Given the description of an element on the screen output the (x, y) to click on. 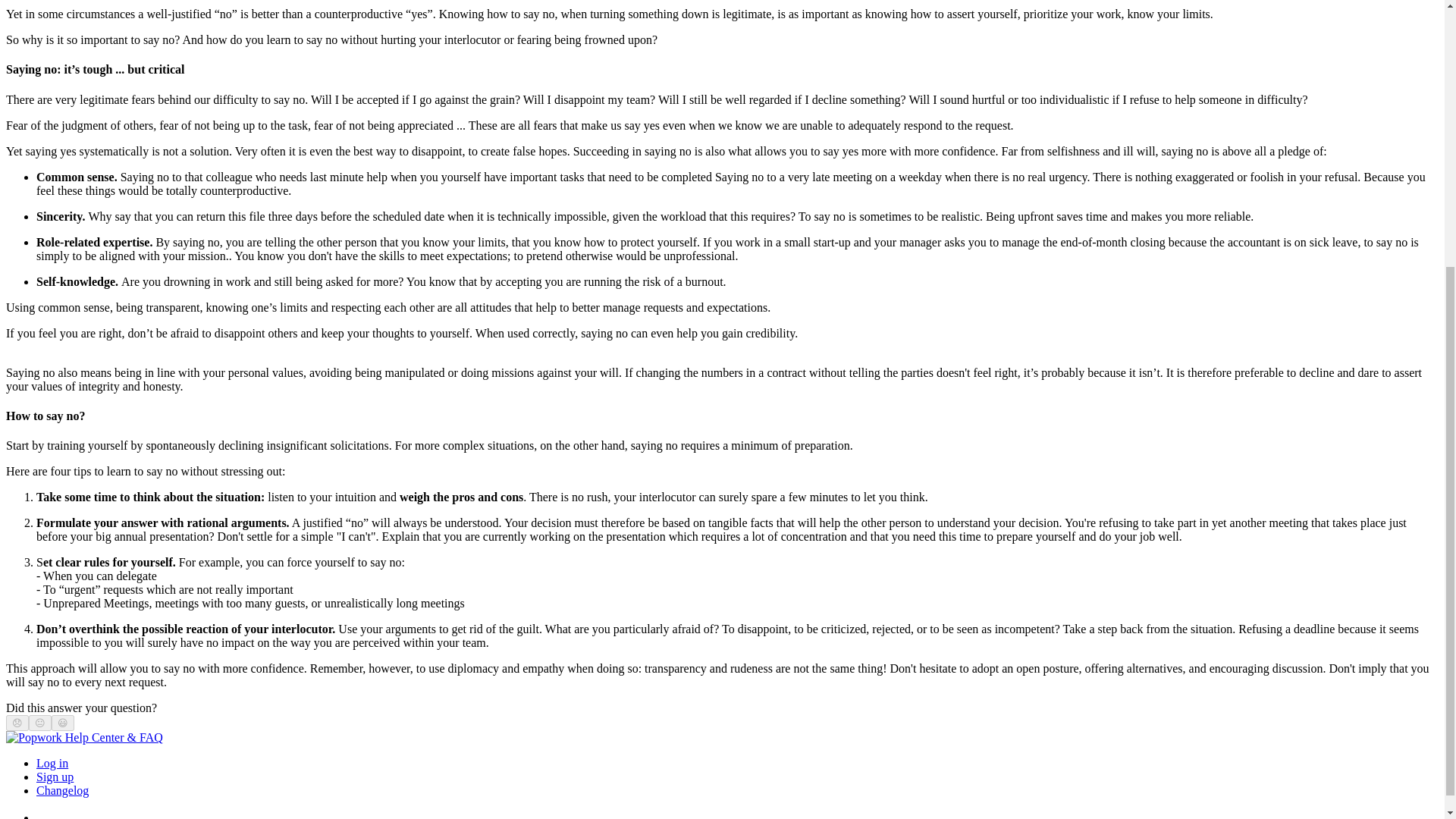
Log in (52, 762)
Changelog (62, 789)
Smiley (63, 722)
Disappointed (17, 722)
Sign up (55, 776)
Neutral (39, 722)
